Given the description of an element on the screen output the (x, y) to click on. 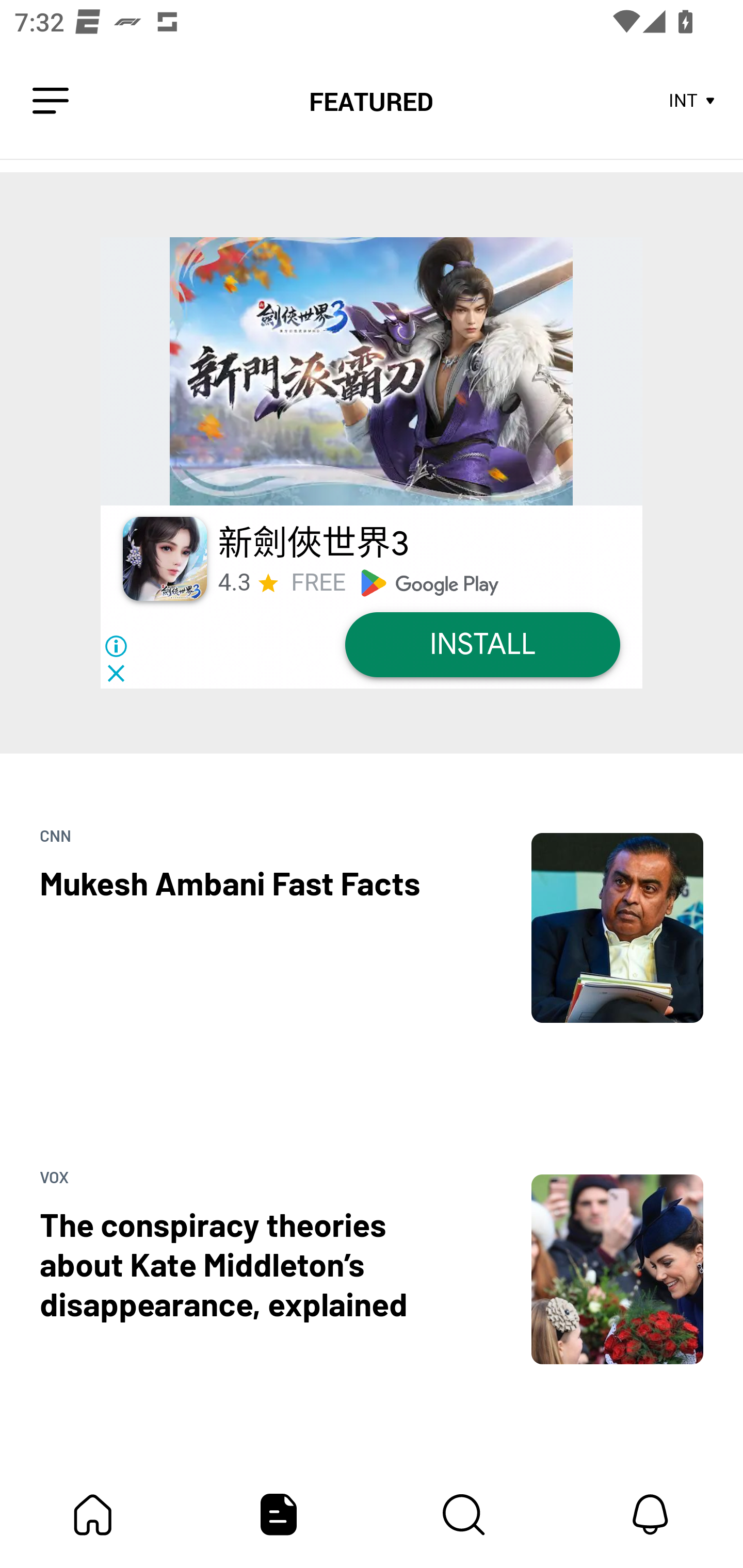
Leading Icon (50, 101)
INT Store Area (692, 101)
新劍俠世界3 (313, 543)
4.3 (234, 582)
FREE (317, 582)
INSTALL (482, 643)
CNN Mukesh Ambani Fast Facts News Item Image (371, 888)
My Bundle (92, 1514)
Content Store (464, 1514)
Notifications (650, 1514)
